Given the description of an element on the screen output the (x, y) to click on. 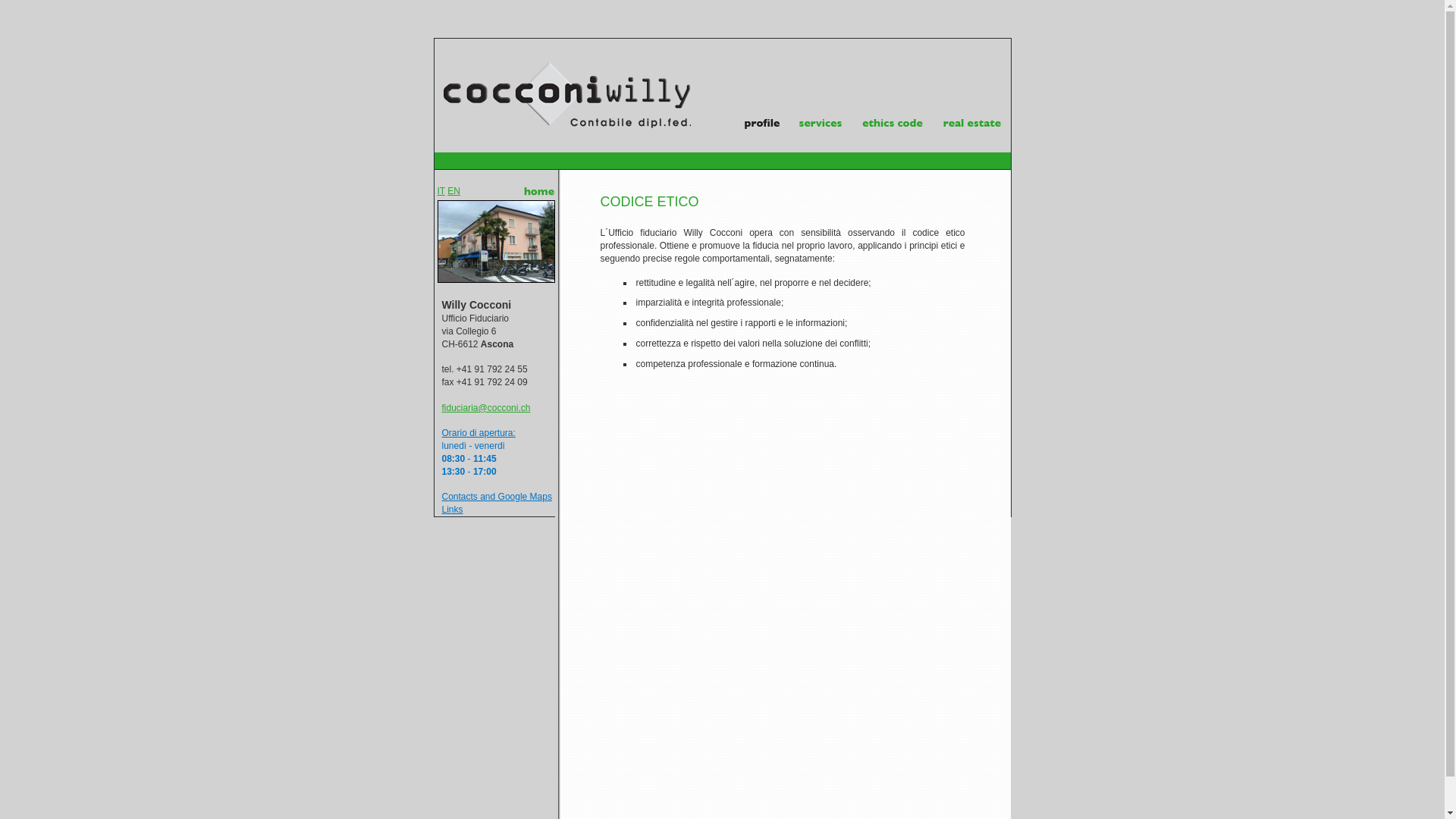
IT Element type: text (440, 190)
Contacts and Google Maps Element type: text (496, 496)
EN Element type: text (453, 190)
Links Element type: text (451, 509)
fiduciaria@cocconi.ch Element type: text (485, 407)
